Given the description of an element on the screen output the (x, y) to click on. 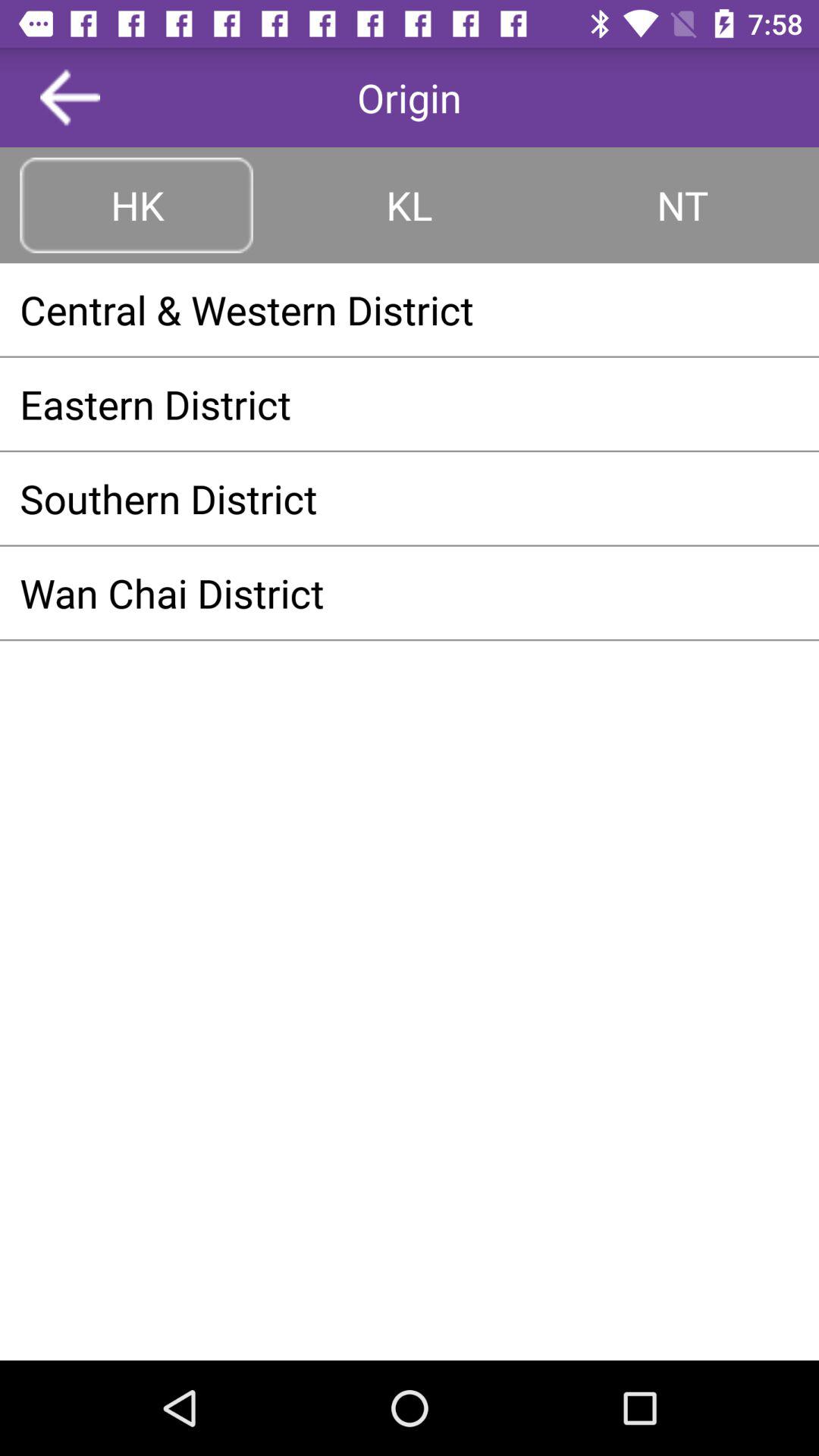
scroll until eastern district app (409, 403)
